Given the description of an element on the screen output the (x, y) to click on. 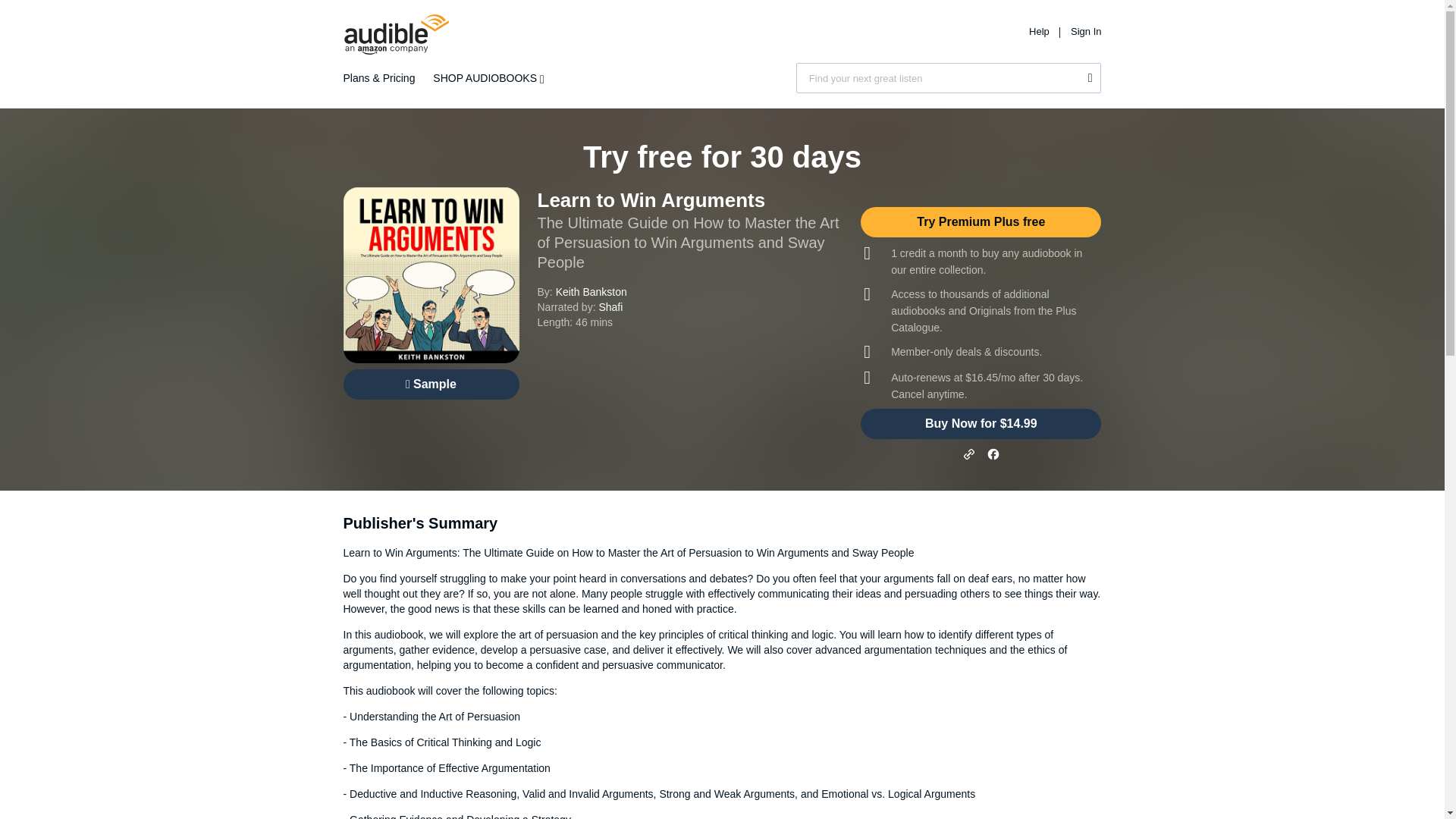
Help (1040, 30)
Copy Link (968, 453)
Try Premium Plus free (980, 222)
SHOP AUDIOBOOKS (491, 78)
Keith Bankston (591, 291)
Sample (430, 384)
Sign In (1085, 30)
Shafi (610, 306)
Share on Facebook (992, 453)
